Given the description of an element on the screen output the (x, y) to click on. 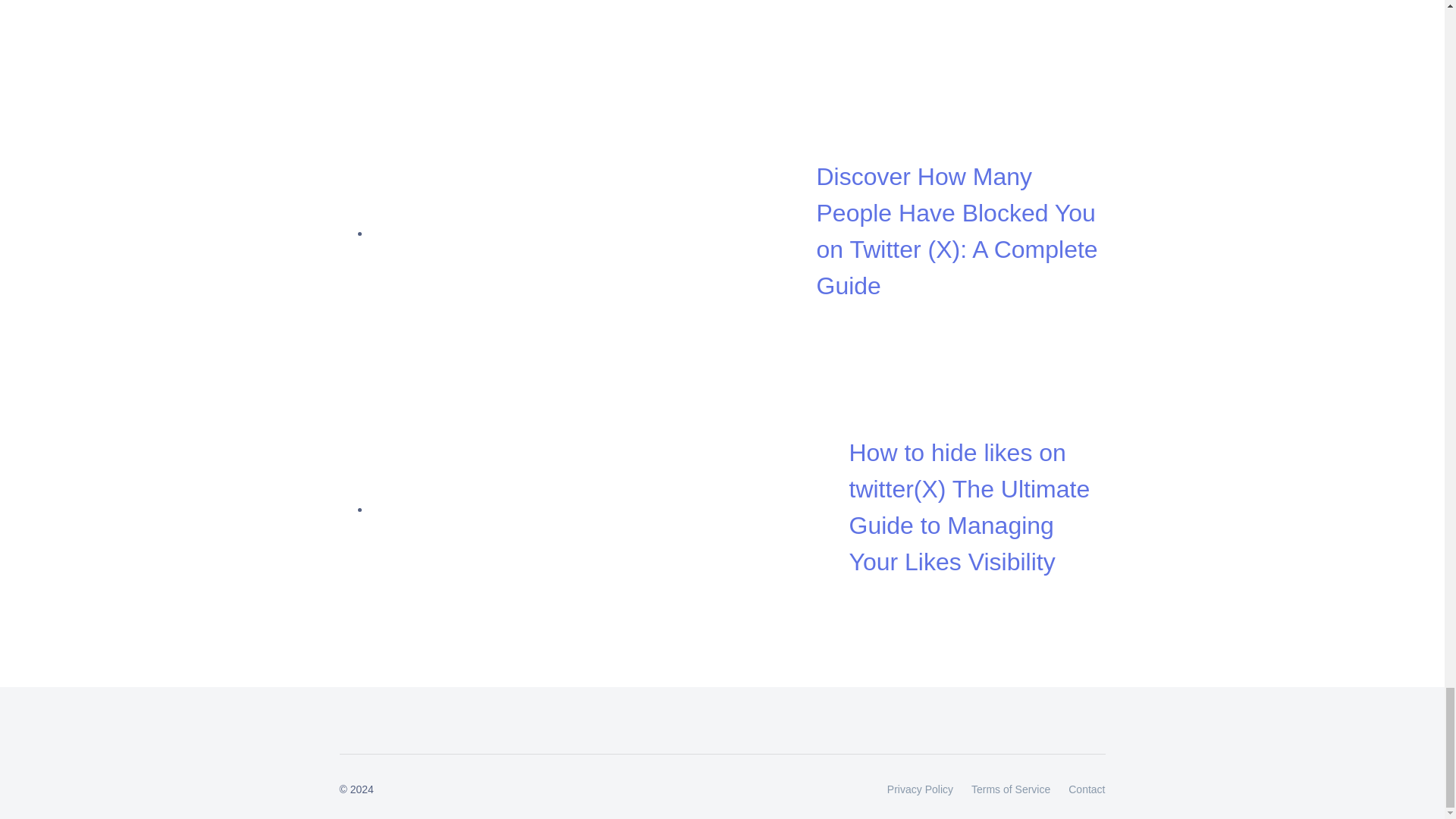
Privacy Policy (919, 789)
Contact (1082, 789)
Terms of Service (1010, 789)
